Given the description of an element on the screen output the (x, y) to click on. 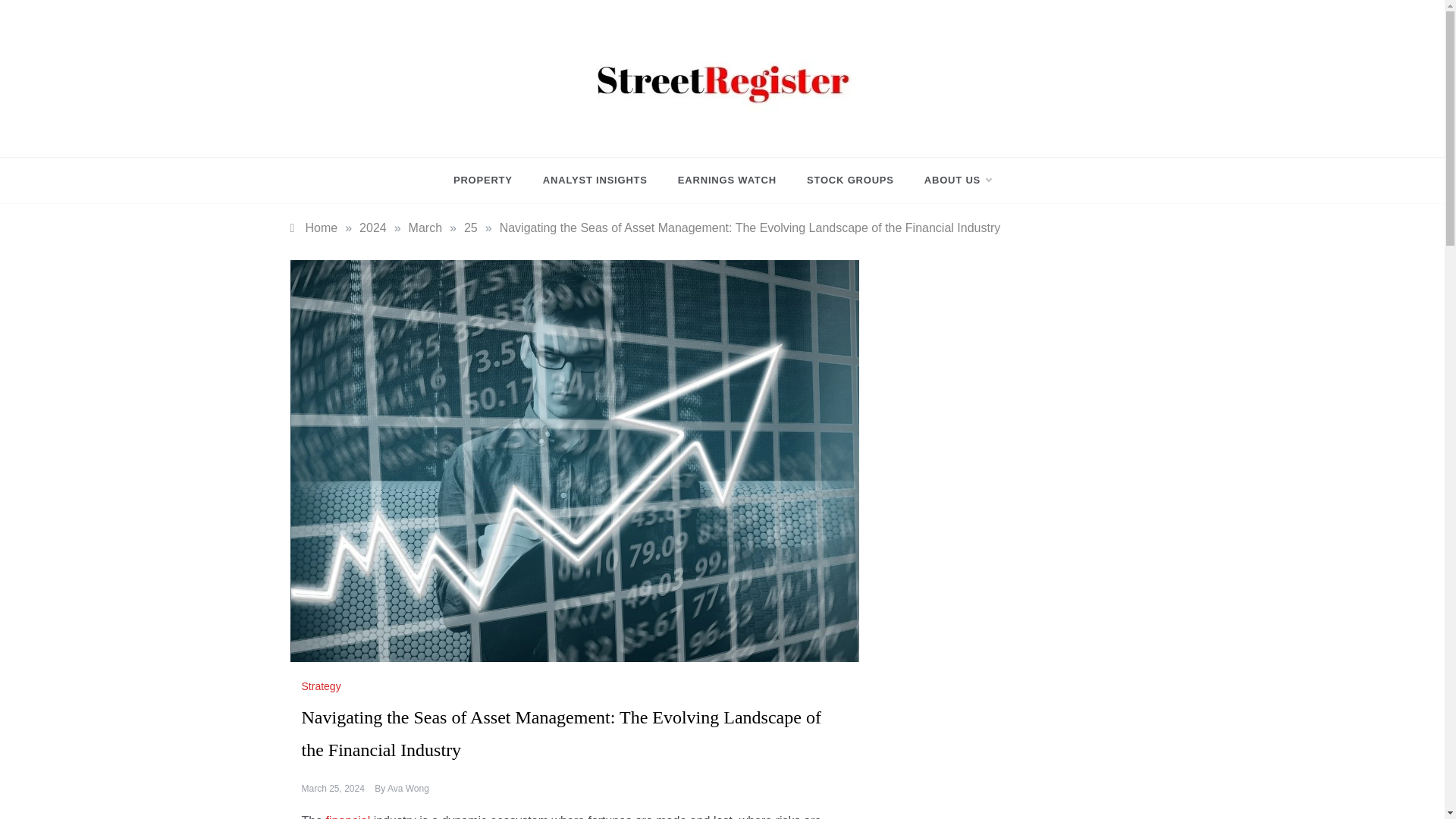
Street Register (635, 130)
PROPERTY (489, 180)
STOCK GROUPS (850, 180)
Home (313, 227)
ABOUT US (949, 180)
March (425, 227)
March 25, 2024 (333, 787)
2024 (373, 227)
Strategy (323, 686)
